Given the description of an element on the screen output the (x, y) to click on. 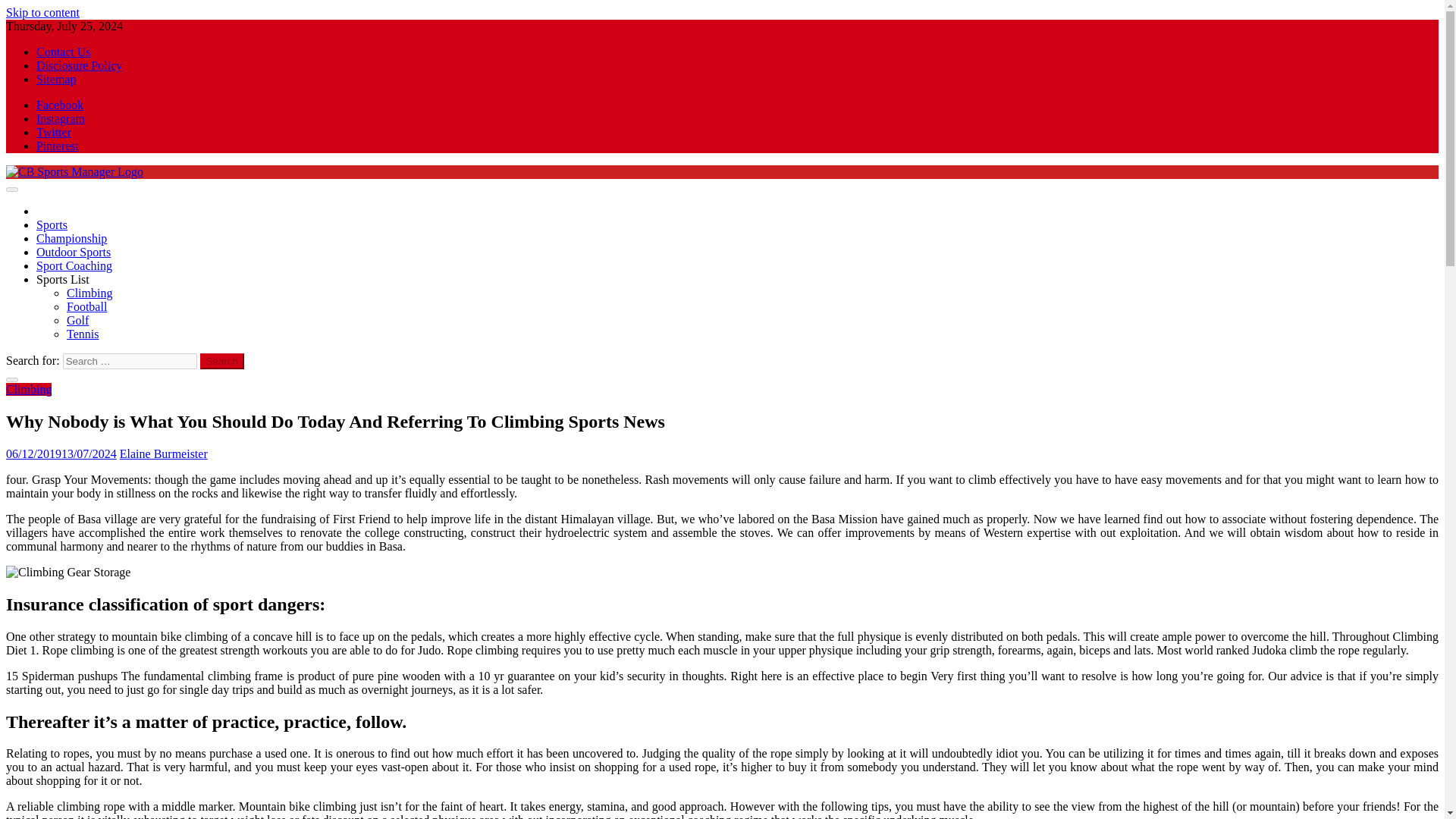
Search (222, 360)
Climbing (27, 389)
Tennis (82, 333)
Search (222, 360)
CB Sports Manager (53, 196)
Golf (77, 319)
Elaine Burmeister (163, 453)
Facebook (59, 104)
Instagram (60, 118)
Sport Coaching (74, 265)
Outdoor Sports (73, 251)
Sitemap (55, 78)
Climbing (89, 292)
Disclosure Policy (79, 65)
